Given the description of an element on the screen output the (x, y) to click on. 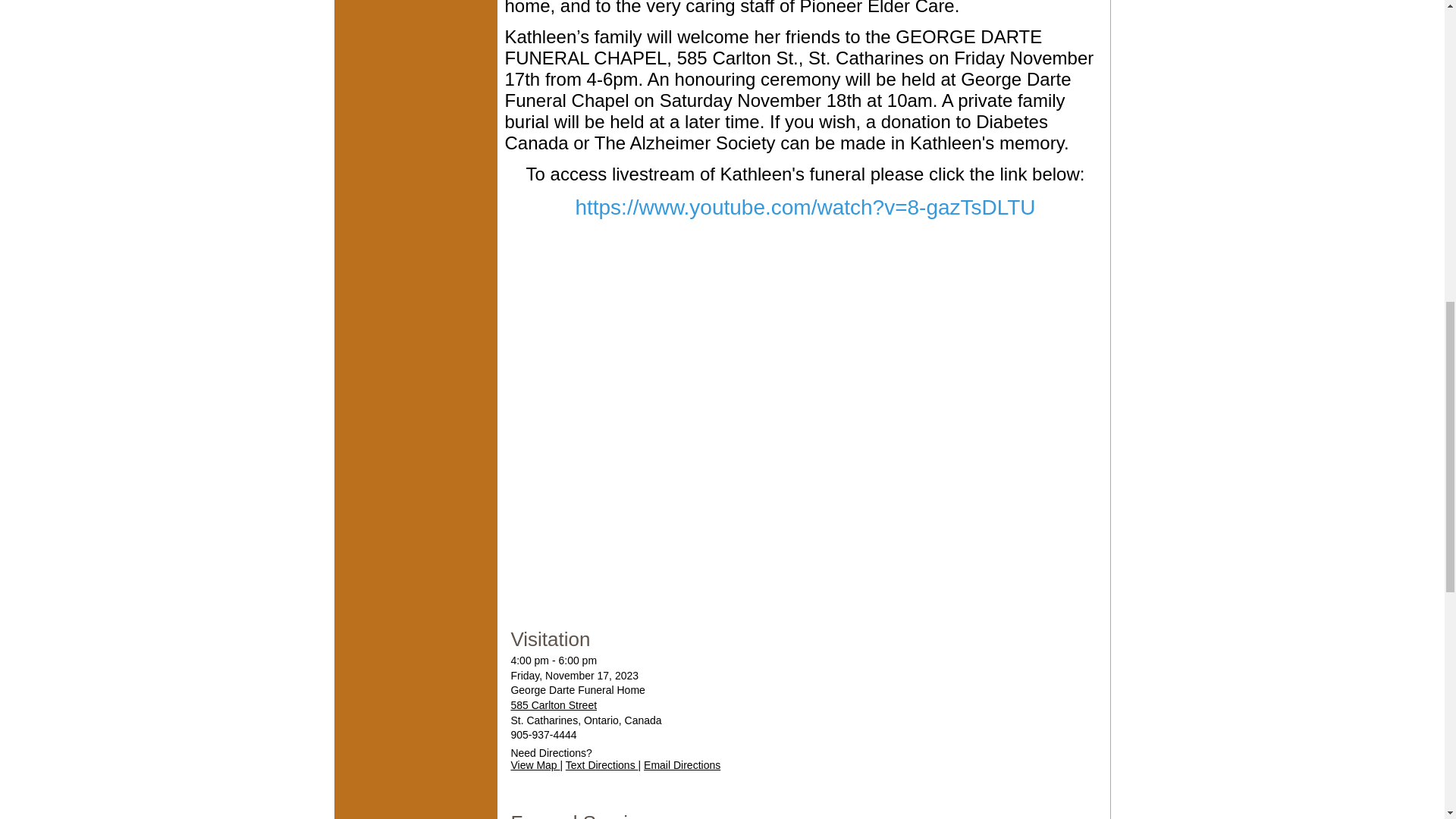
Receive Notifications (442, 8)
Twitter (415, 8)
Facebook (387, 8)
